Given the description of an element on the screen output the (x, y) to click on. 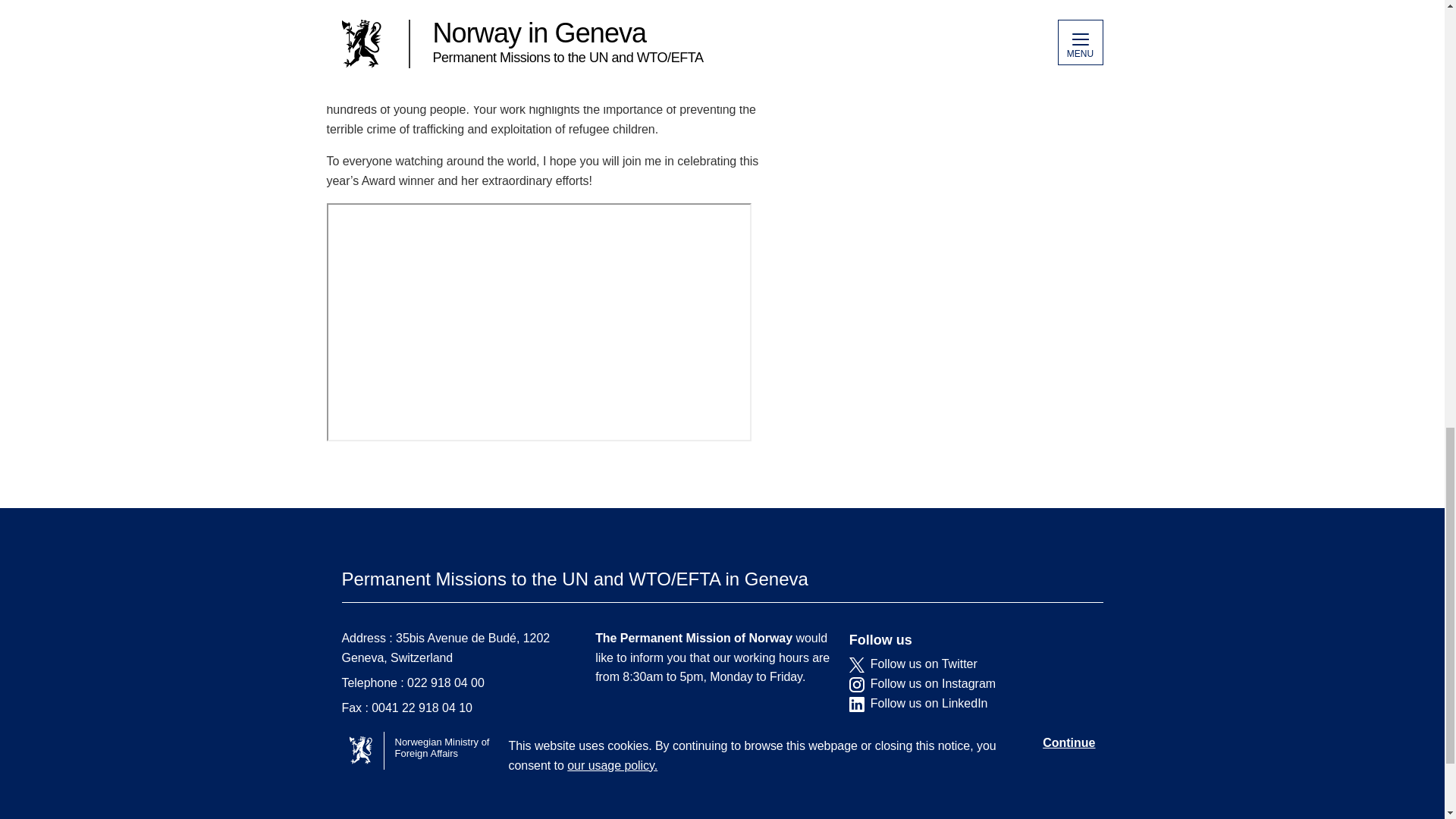
Follow us on LinkedIn (964, 703)
Follow us on Instagram (964, 684)
Follow us on Twitter (964, 663)
